Given the description of an element on the screen output the (x, y) to click on. 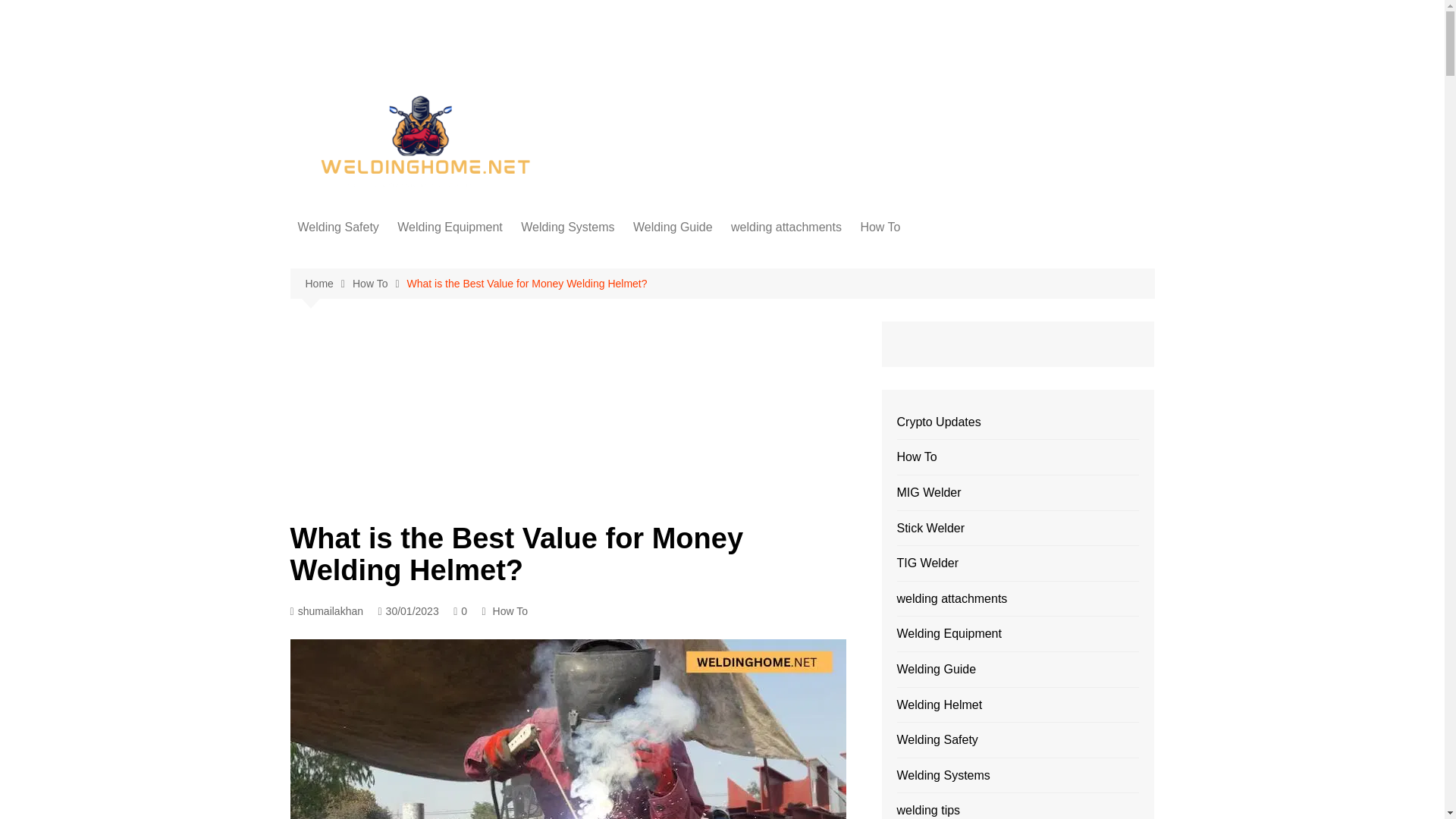
How To (510, 610)
How To (379, 283)
Home (328, 283)
welding attachments (785, 227)
How To (879, 227)
Welding Helmet (373, 258)
Welding Systems (567, 227)
What is the Best Value for Money Welding Helmet? (527, 283)
shumailakhan (325, 610)
Welding Safety (337, 227)
